Given the description of an element on the screen output the (x, y) to click on. 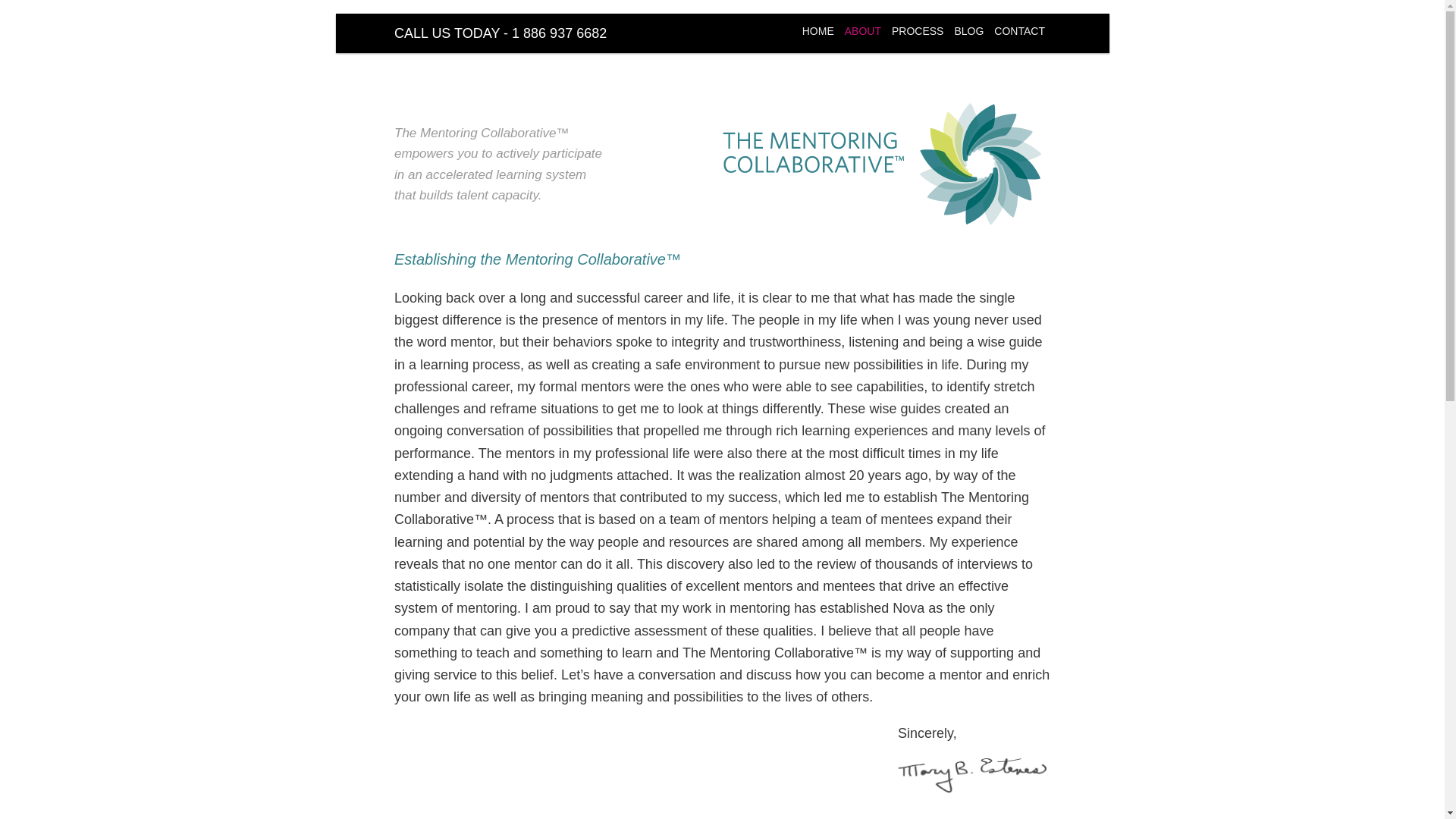
BLOG (968, 31)
CONTACT (1018, 31)
PROCESS (917, 31)
ABOUT (863, 31)
Skip to primary content (470, 35)
Mentoring Collaborative (523, 76)
HOME (818, 31)
Skip to secondary content (479, 35)
Mentoring Collaborative (523, 76)
Skip to primary content (470, 35)
